Given the description of an element on the screen output the (x, y) to click on. 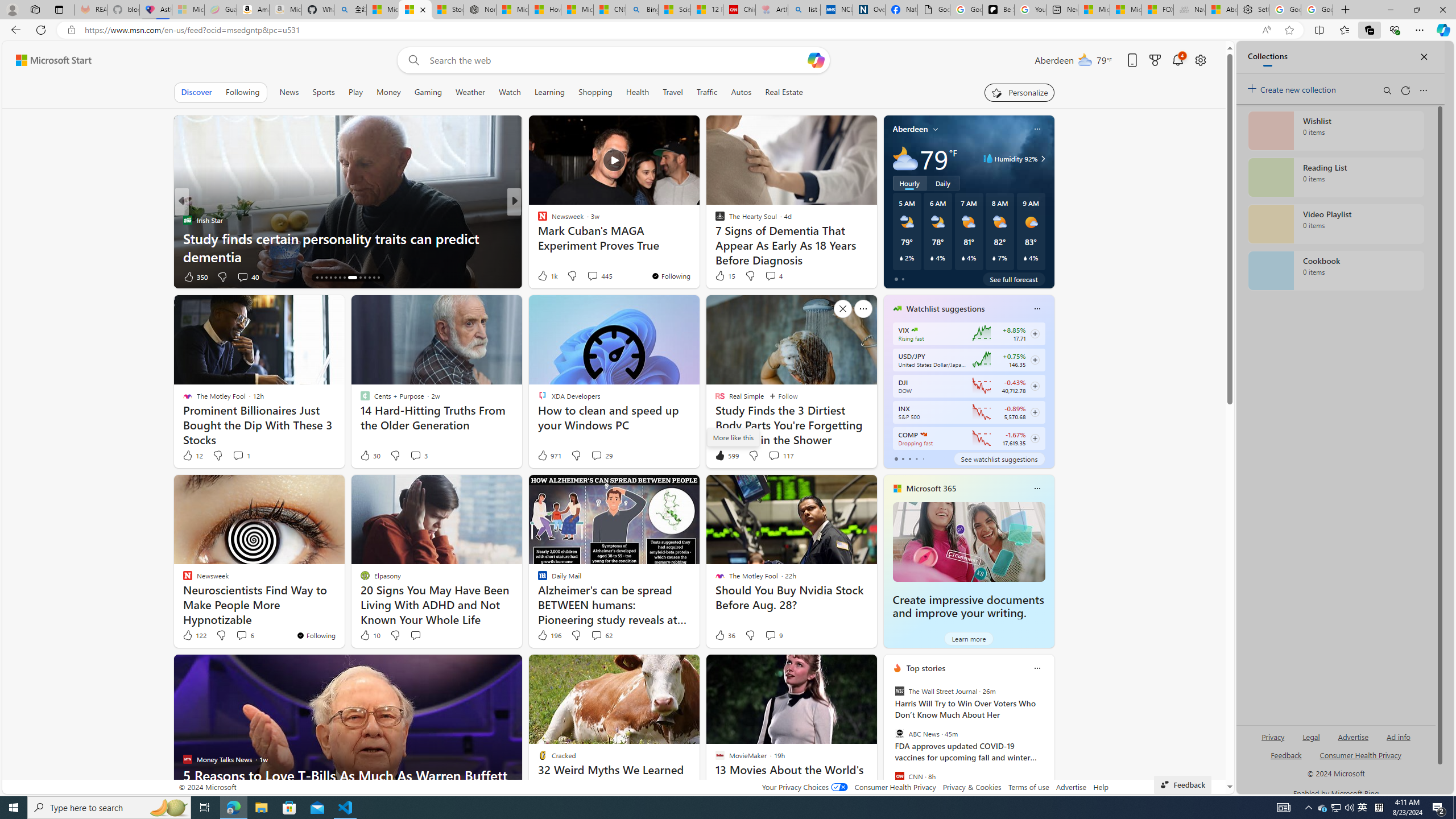
Personalize your feed" (1019, 92)
View comments 13 Comment (597, 276)
Class: weather-current-precipitation-glyph (1024, 257)
AutomationID: tab-17 (330, 277)
